Given the description of an element on the screen output the (x, y) to click on. 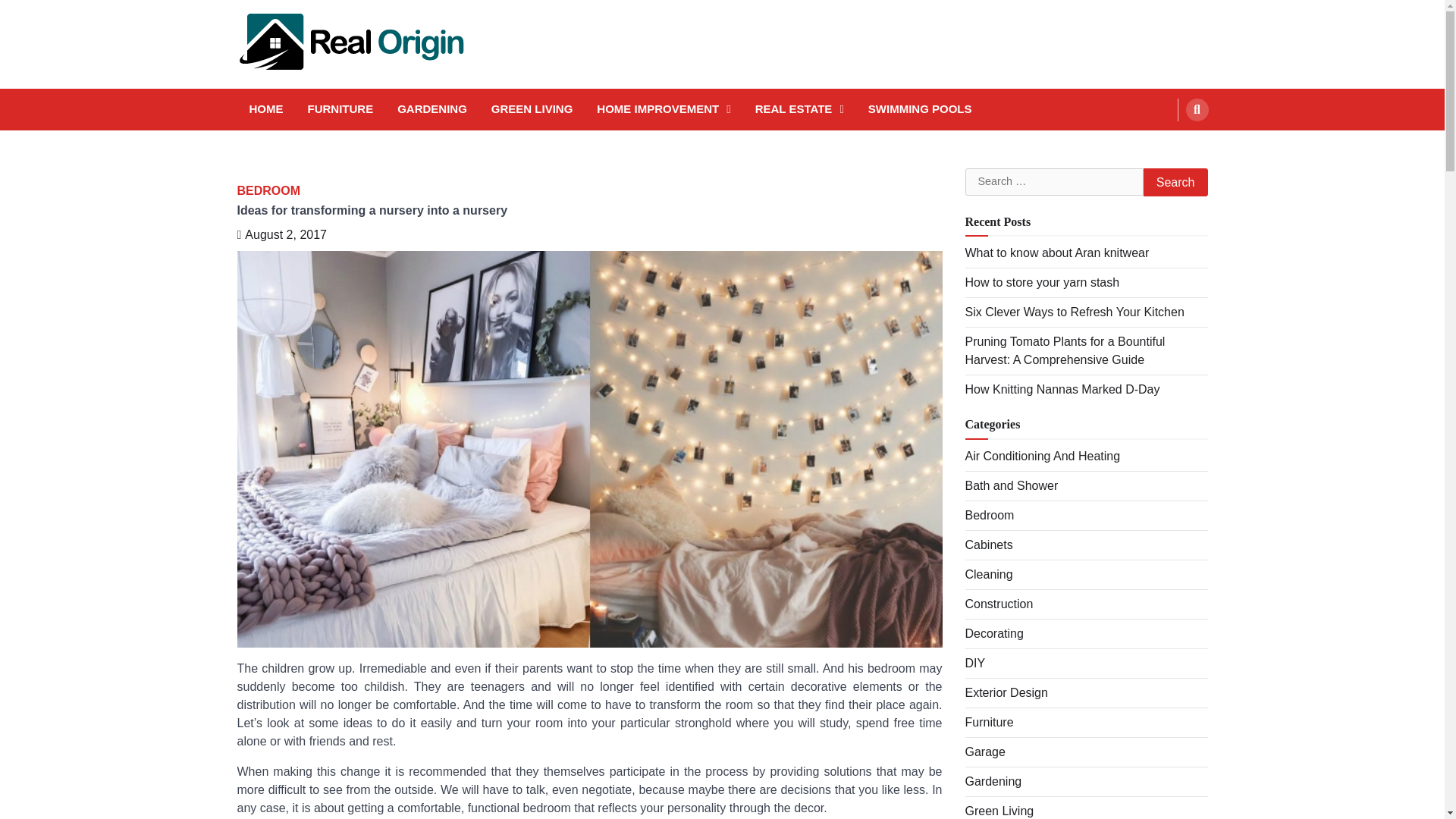
Search (1175, 182)
Search (1197, 109)
SWIMMING POOLS (919, 108)
GREEN LIVING (531, 108)
GARDENING (432, 108)
BEDROOM (267, 190)
Search (1175, 182)
Real and Origin (277, 83)
HOME (265, 108)
HOME IMPROVEMENT (663, 108)
REAL ESTATE (799, 108)
August 2, 2017 (280, 234)
Search (1168, 144)
FURNITURE (340, 108)
